Given the description of an element on the screen output the (x, y) to click on. 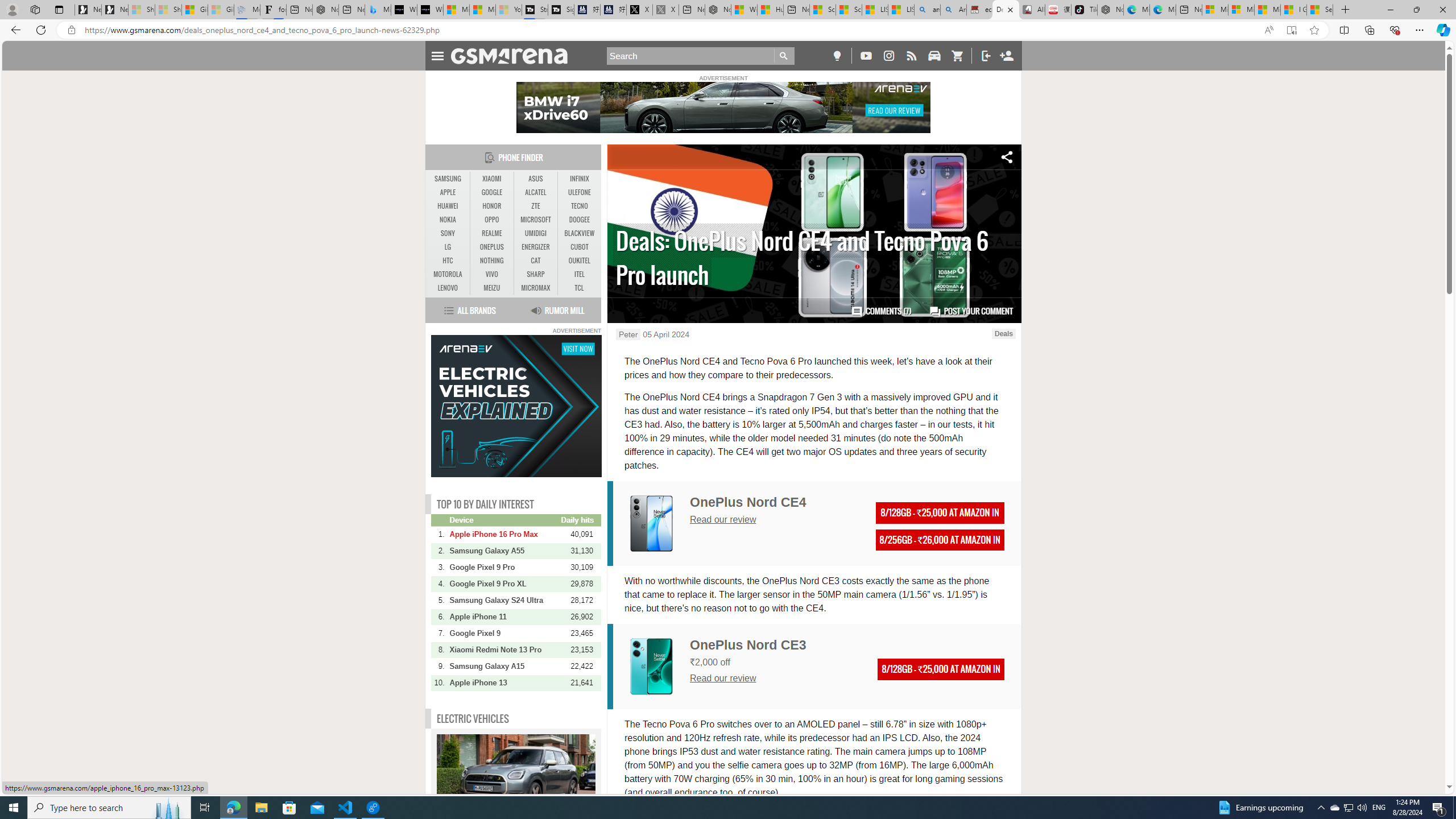
AutomationID: anchor (513, 55)
NOKIA (448, 219)
BLACKVIEW (579, 233)
OUKITEL (579, 260)
CUBOT (579, 246)
ULEFONE (579, 192)
Deals (1003, 333)
GOOGLE (491, 192)
ZTE (535, 205)
